Given the description of an element on the screen output the (x, y) to click on. 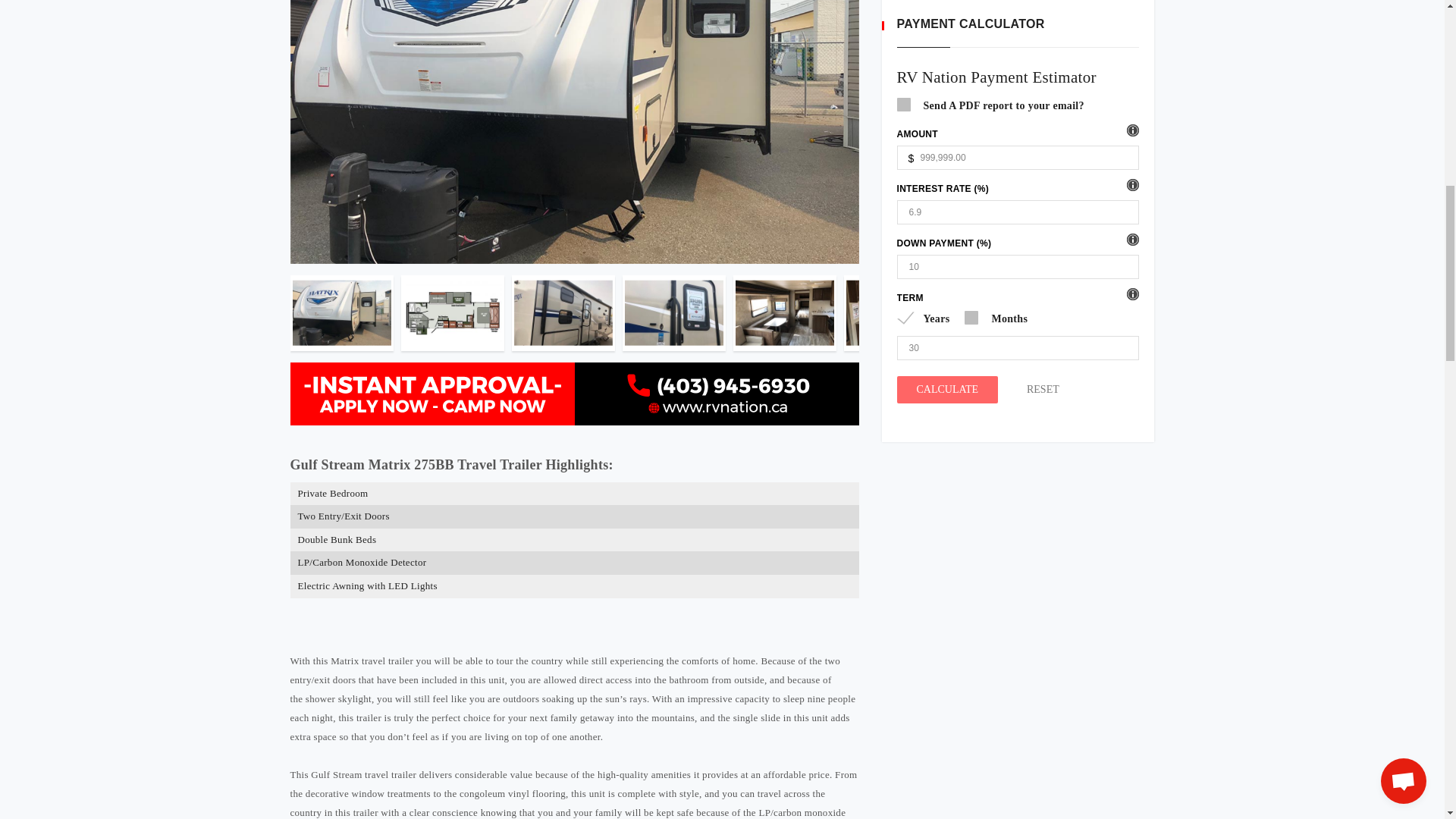
999,999.00 (1017, 157)
30 (1017, 347)
6.9 (1017, 211)
10 (1017, 266)
